Given the description of an element on the screen output the (x, y) to click on. 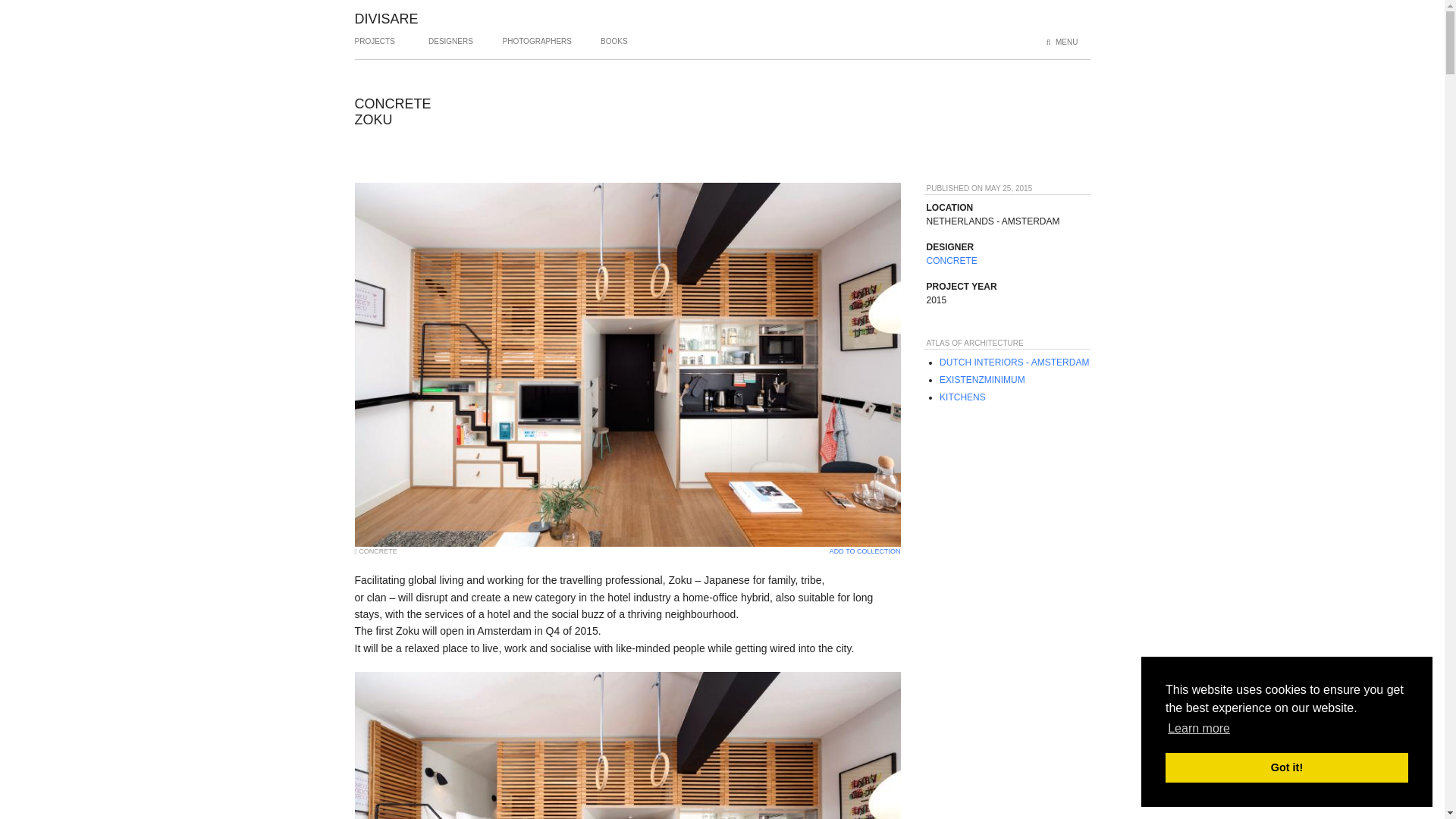
Got it! (1286, 767)
Learn more (1198, 728)
DIVISARE (387, 18)
PROJECTS (374, 46)
